Given the description of an element on the screen output the (x, y) to click on. 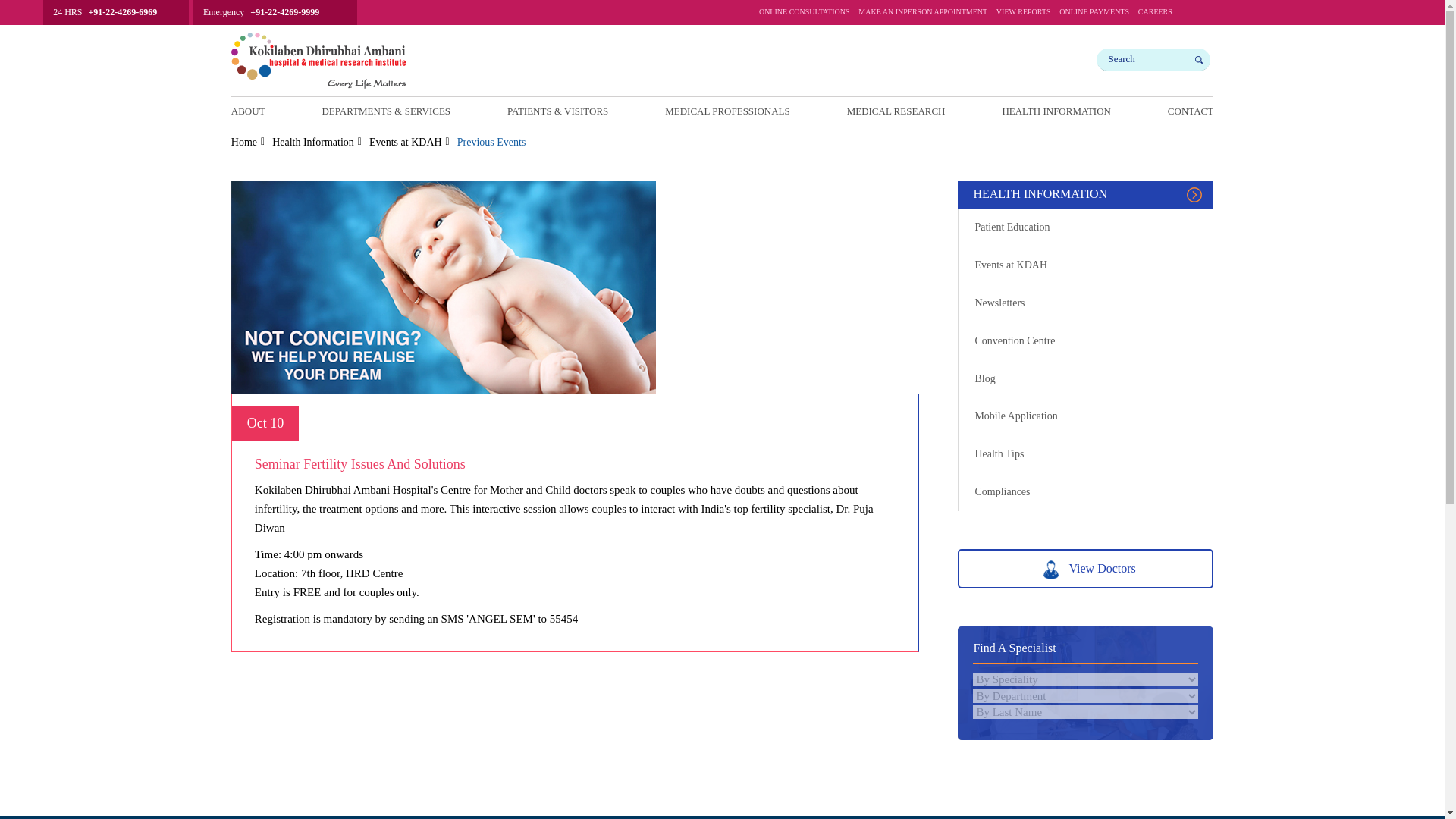
CAREERS (1155, 14)
ONLINE CONSULTATIONS (804, 14)
MAKE AN INPERSON APPOINTMENT (923, 14)
ONLINE PAYMENTS (1094, 14)
VIEW REPORTS (1023, 14)
ABOUT (247, 110)
